Given the description of an element on the screen output the (x, y) to click on. 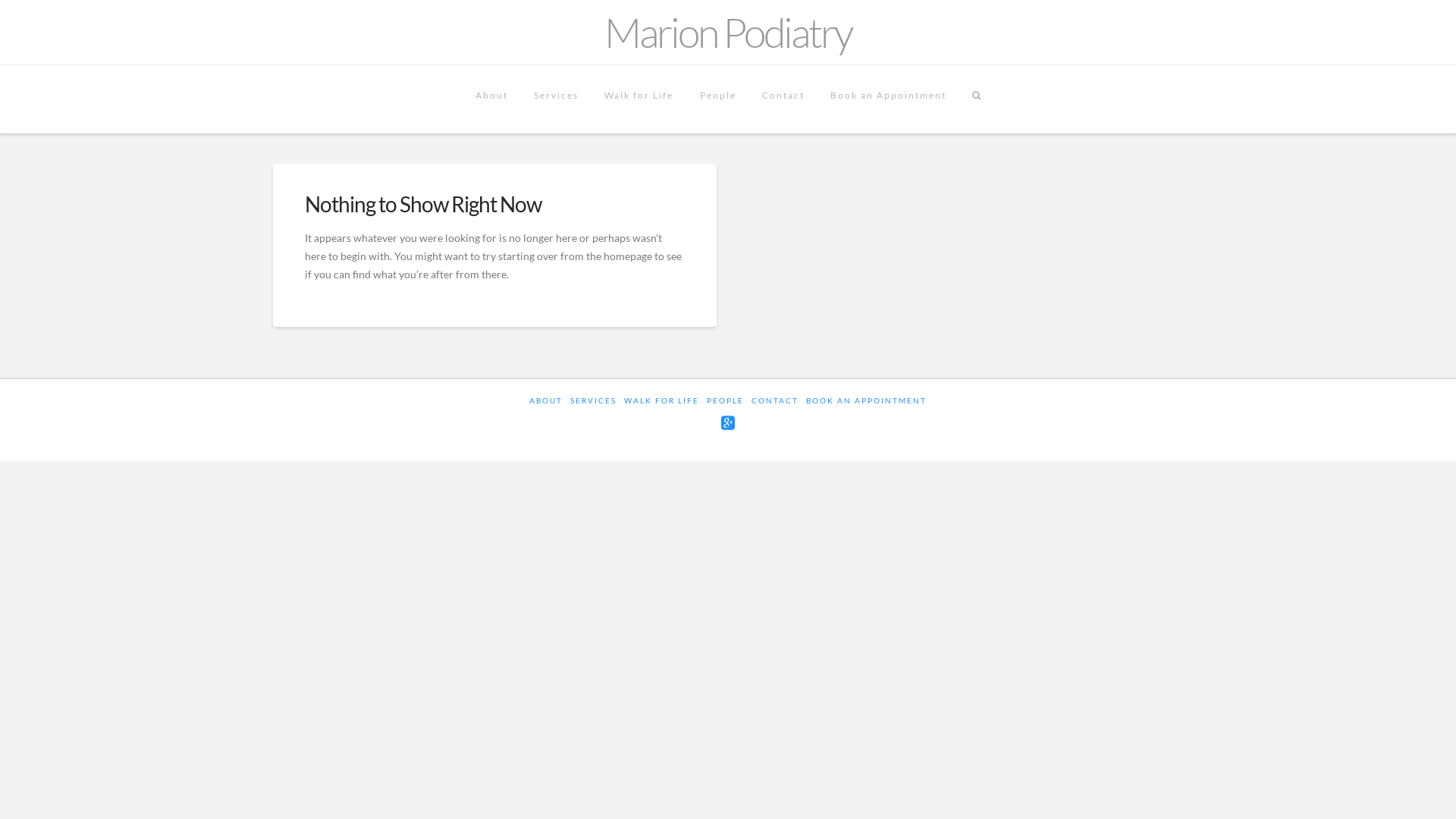
Contact Element type: text (783, 99)
BOOK AN APPOINTMENT Element type: text (866, 400)
SERVICES Element type: text (593, 400)
CONTACT Element type: text (774, 400)
WALK FOR LIFE Element type: text (661, 400)
Google+ Element type: hover (727, 422)
ABOUT Element type: text (545, 400)
About Element type: text (491, 99)
Walk for Life Element type: text (638, 99)
Services Element type: text (555, 99)
PEOPLE Element type: text (724, 400)
People Element type: text (717, 99)
Marion Podiatry Element type: text (727, 31)
Book an Appointment Element type: text (888, 99)
